Given the description of an element on the screen output the (x, y) to click on. 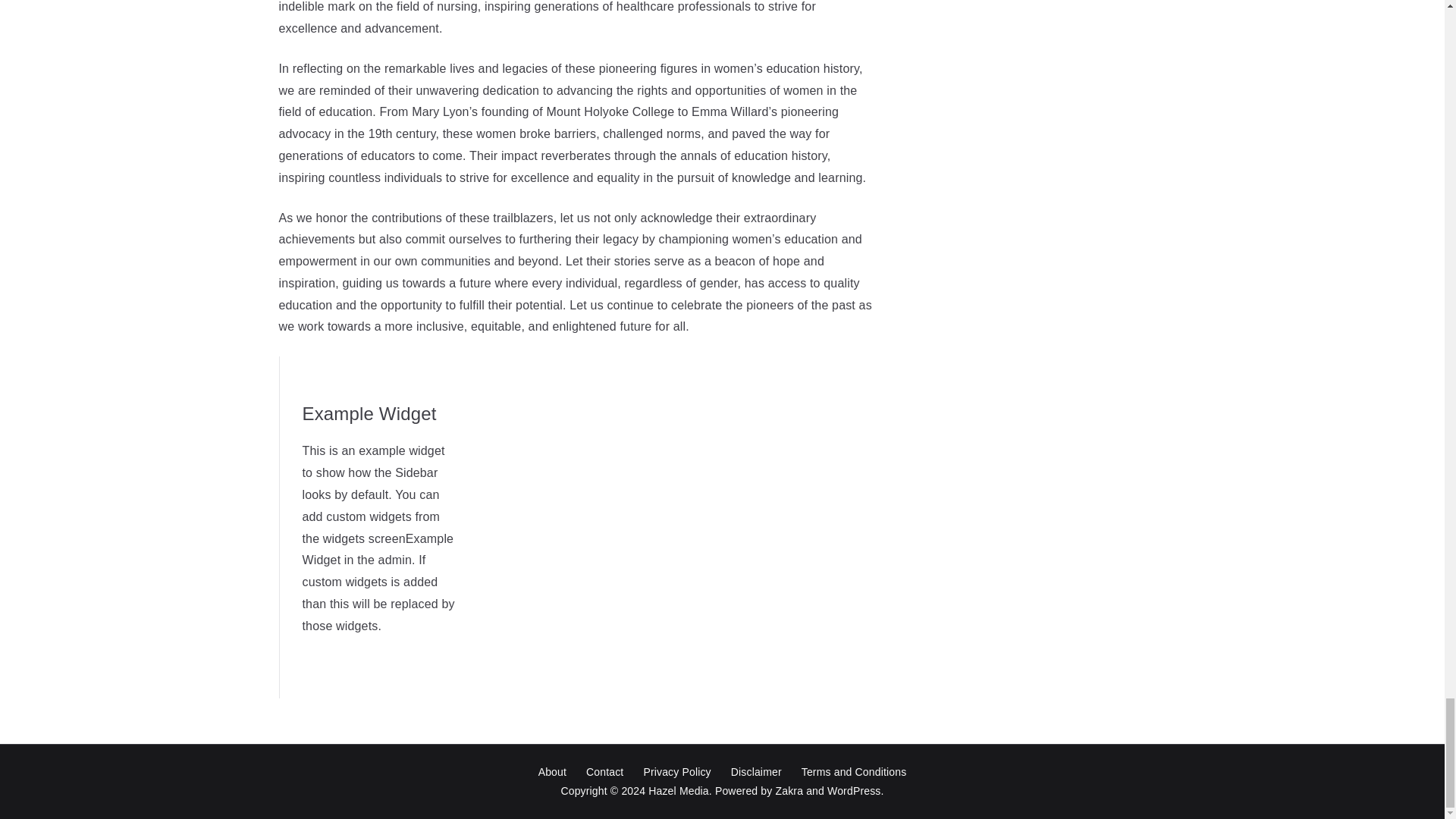
Zakra (788, 790)
Contact (604, 772)
About (552, 772)
Hazel Media (678, 790)
Terms and Conditions (854, 772)
Hazel Media (678, 790)
Disclaimer (756, 772)
Privacy Policy (676, 772)
WordPress (853, 790)
